Given the description of an element on the screen output the (x, y) to click on. 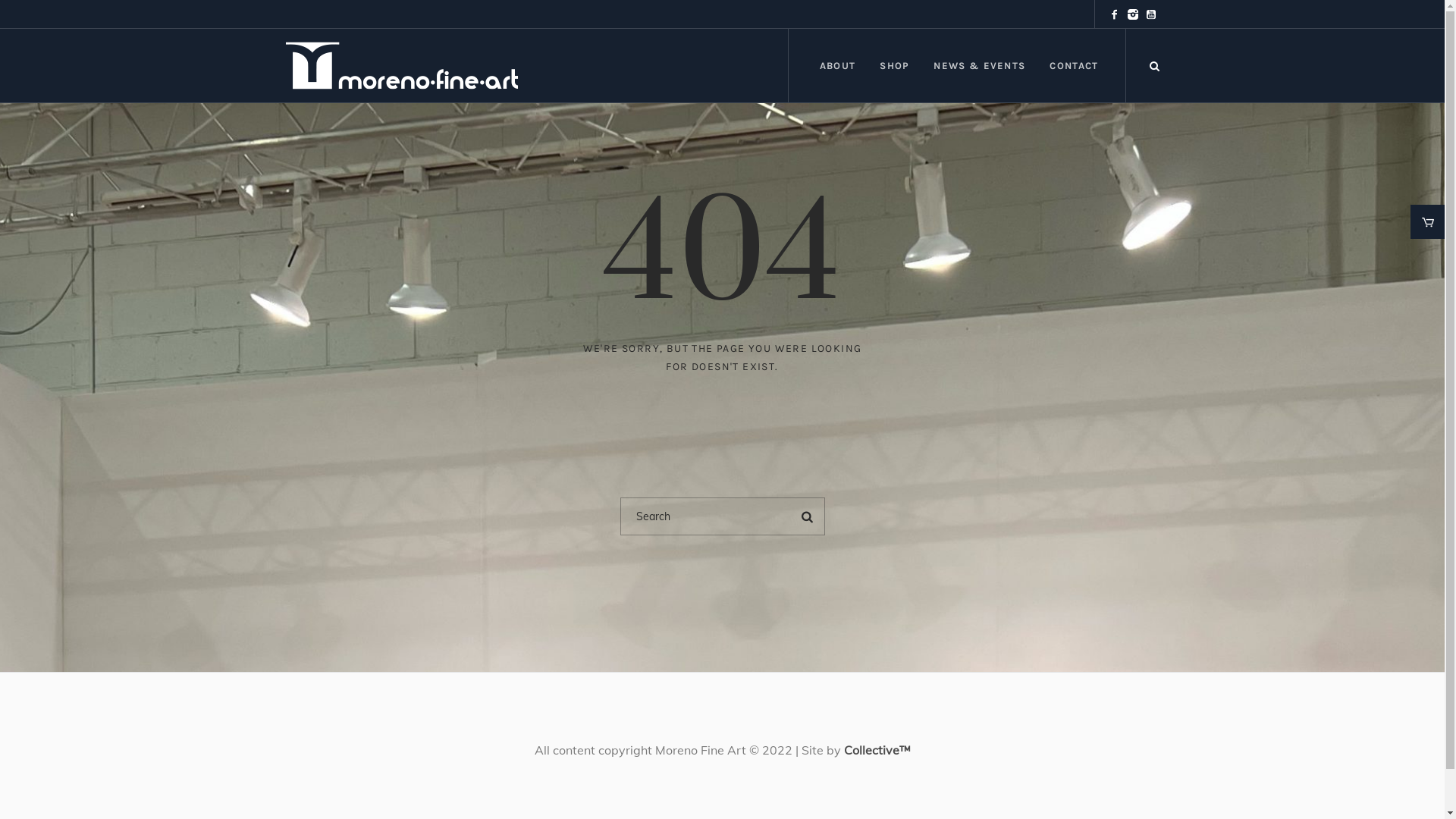
ABOUT Element type: text (837, 65)
CONTACT Element type: text (1073, 65)
NEWS & EVENTS Element type: text (978, 65)
YouTube Element type: hover (1150, 14)
Facebook Element type: hover (1113, 14)
Instagram Element type: hover (1131, 14)
SHOP Element type: text (893, 65)
